Given the description of an element on the screen output the (x, y) to click on. 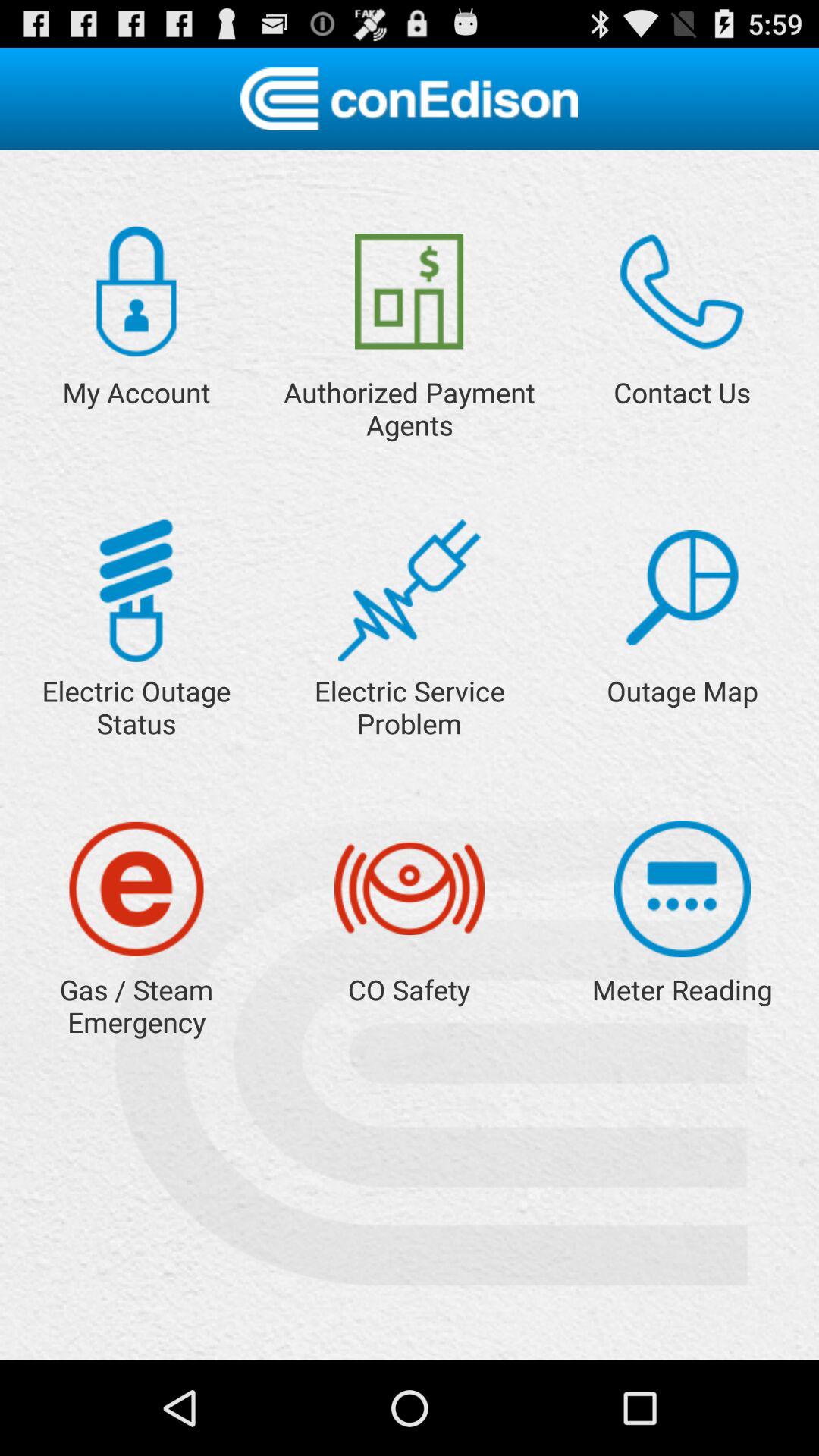
select option (682, 587)
